Given the description of an element on the screen output the (x, y) to click on. 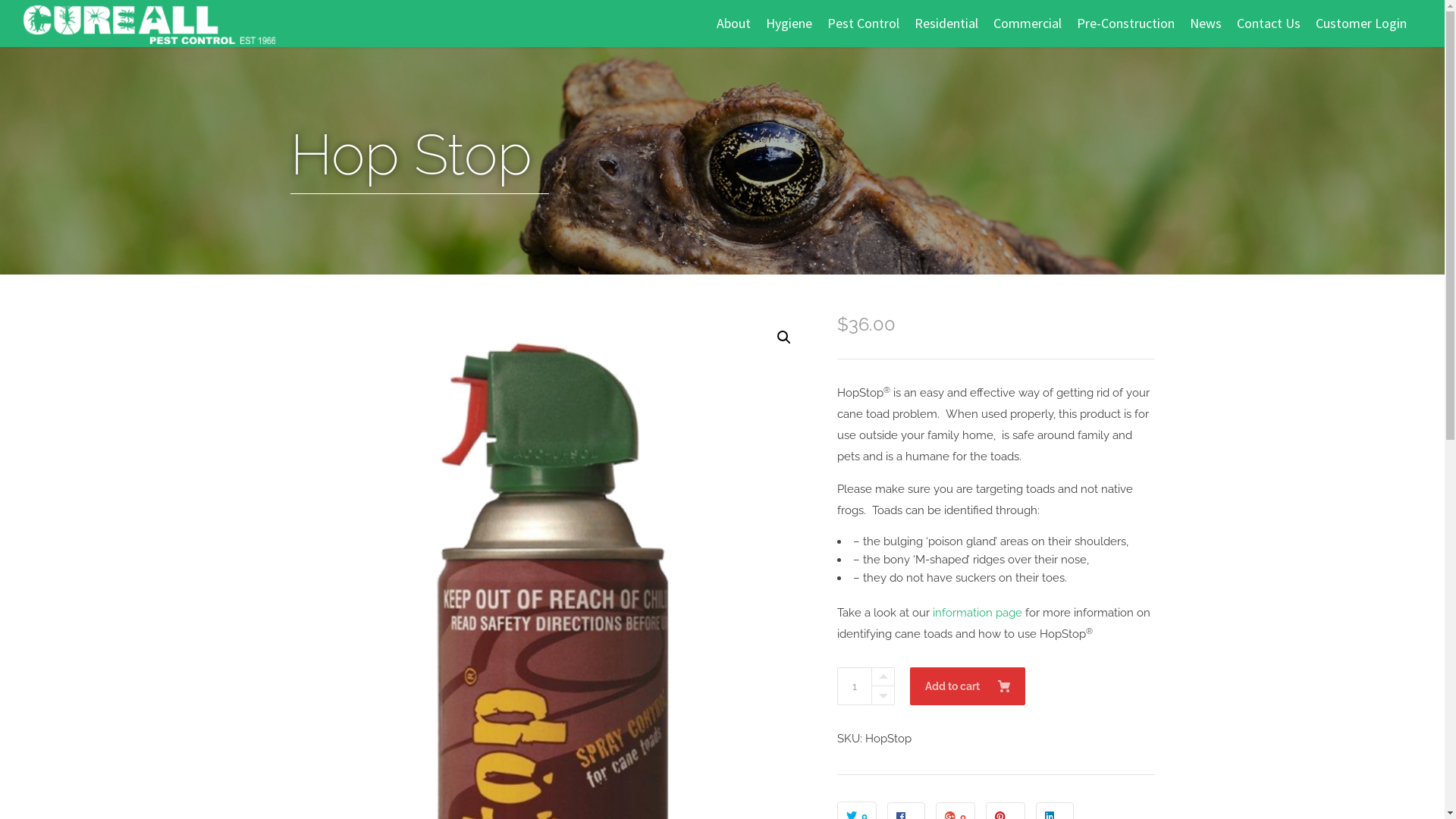
Add to cart Element type: text (967, 686)
Residential Element type: text (945, 22)
Commercial Element type: text (1027, 22)
Pest Control Element type: text (862, 22)
Qty Element type: hover (854, 686)
Pre-Construction Element type: text (1125, 22)
Customer Login Element type: text (1361, 22)
Contact Us Element type: text (1268, 22)
information page Element type: text (977, 612)
Hygiene Element type: text (788, 22)
About Element type: text (733, 22)
News Element type: text (1205, 22)
